Given the description of an element on the screen output the (x, y) to click on. 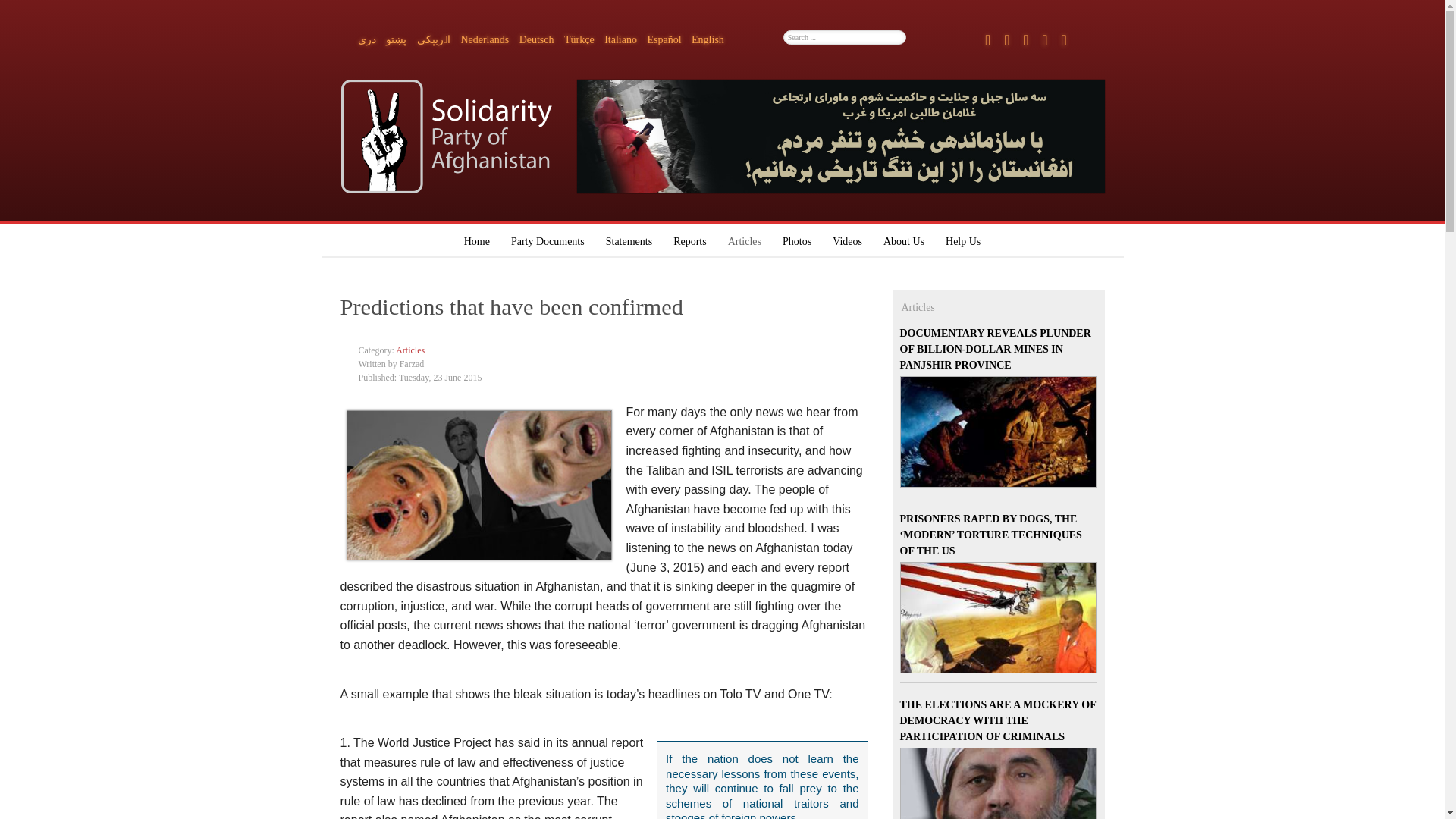
Videos (847, 236)
Help Us (962, 236)
Italiano (621, 39)
Articles (410, 349)
Abdullah and Ghani (478, 485)
Deutsch (537, 39)
Party Documents (547, 236)
